Given the description of an element on the screen output the (x, y) to click on. 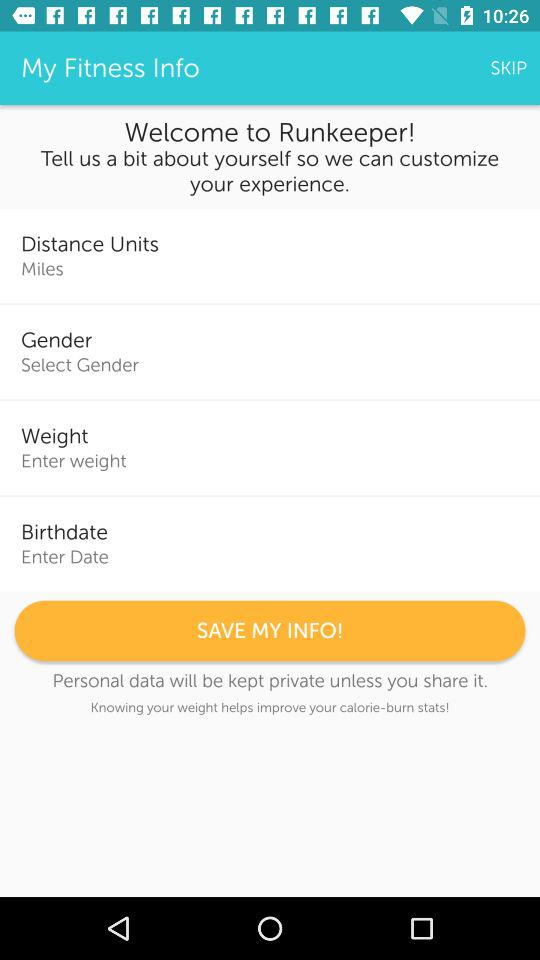
select the text at bottom shown below enter date (269, 630)
select the text at the right corner of the page shown below 1026 (508, 68)
